Given the description of an element on the screen output the (x, y) to click on. 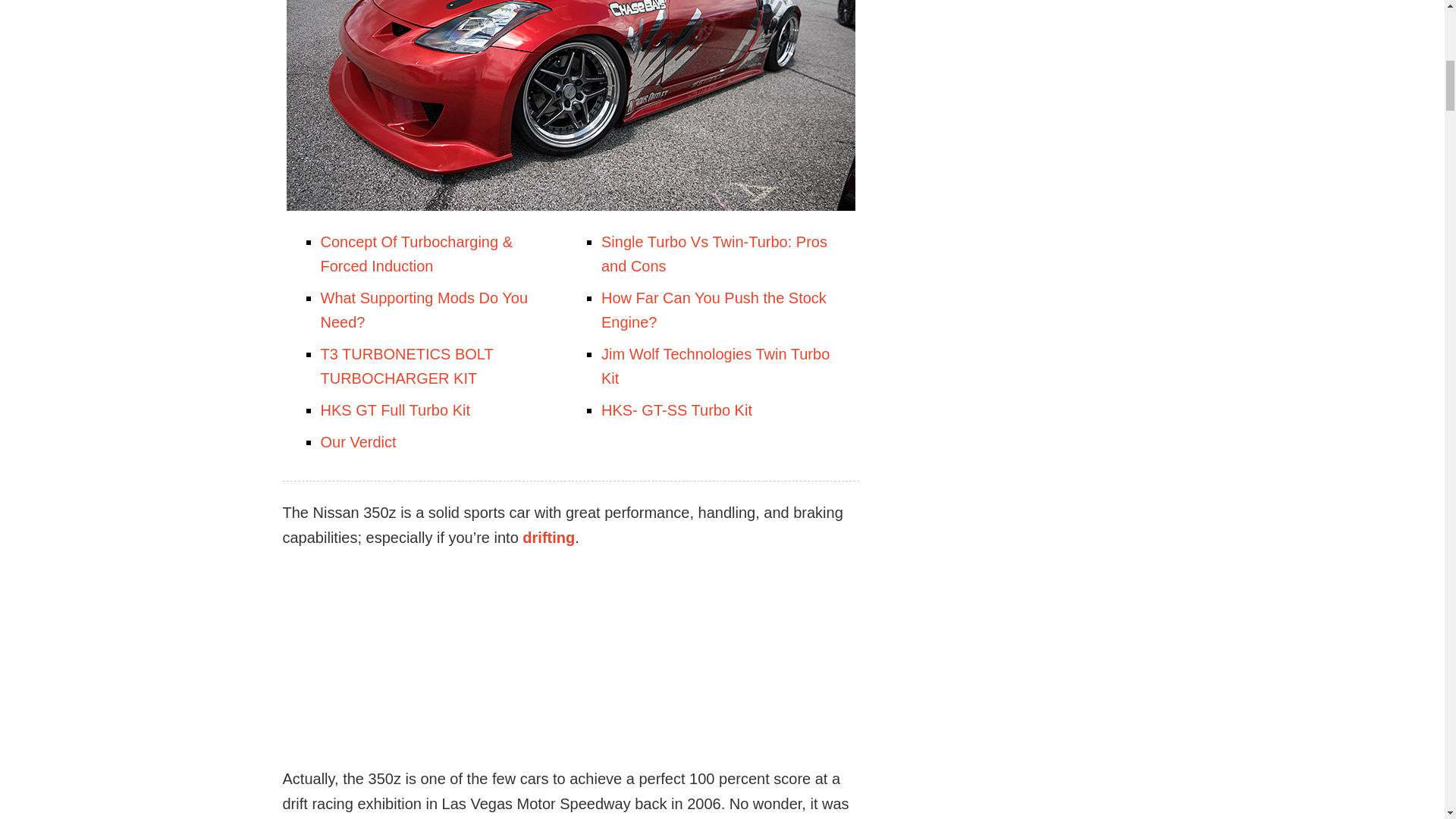
drifting (548, 537)
Single Turbo Vs Twin-Turbo: Pros and Cons (714, 253)
What Supporting Mods Do You Need? (423, 309)
How Far Can You Push the Stock Engine? (714, 309)
T3 TURBONETICS BOLT TURBOCHARGER KIT (406, 365)
HKS- GT-SS Turbo Kit (676, 410)
Jim Wolf Technologies Twin Turbo Kit (715, 365)
HKS GT Full Turbo Kit (394, 410)
Our Verdict (358, 442)
